Given the description of an element on the screen output the (x, y) to click on. 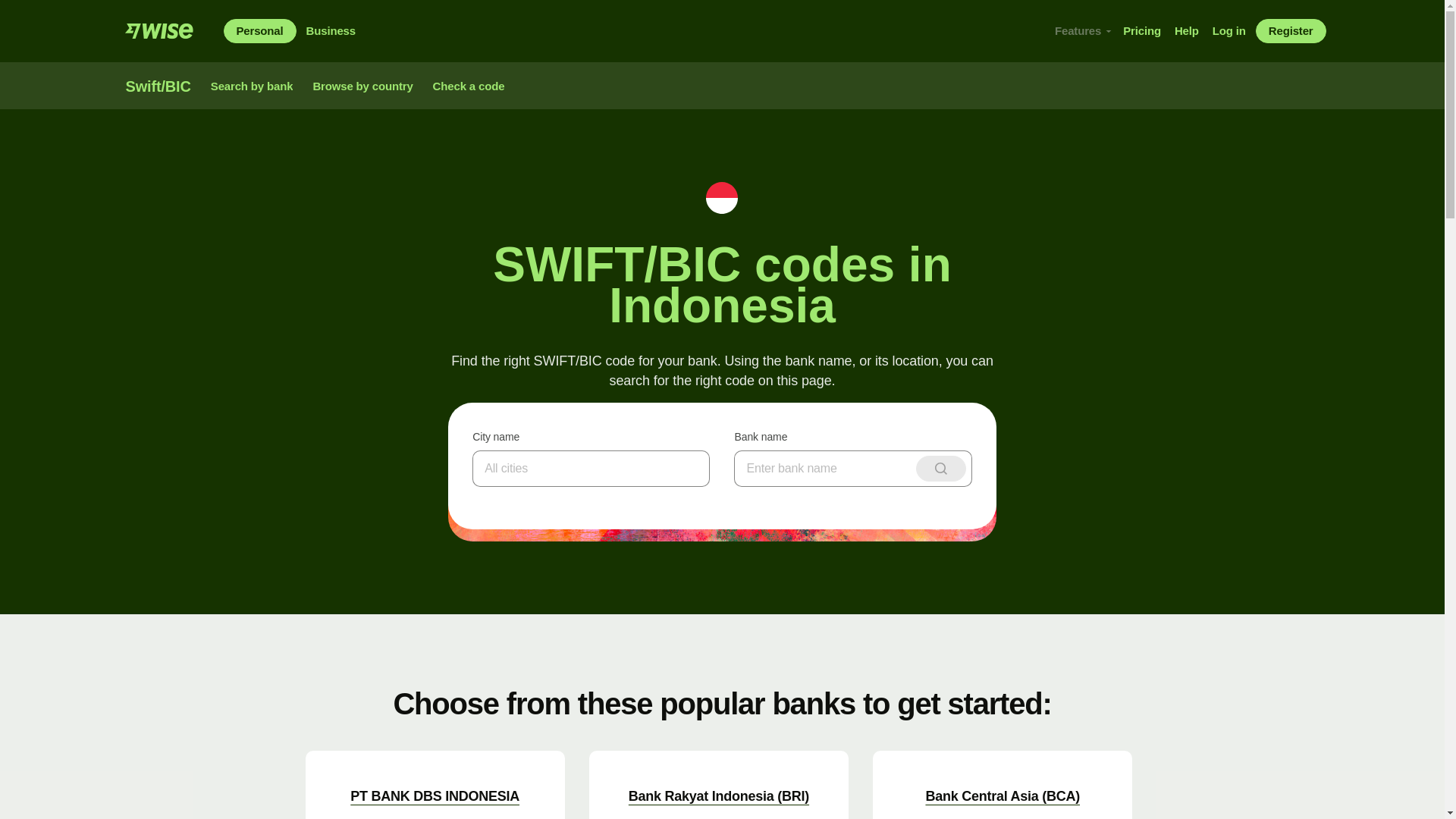
Register (1290, 30)
Business (330, 30)
Personal (258, 30)
Check a code (469, 86)
Browse by country (362, 86)
Features (1082, 30)
Search by bank (251, 86)
Log in (1228, 30)
Pricing (1141, 30)
Help (1186, 30)
